Given the description of an element on the screen output the (x, y) to click on. 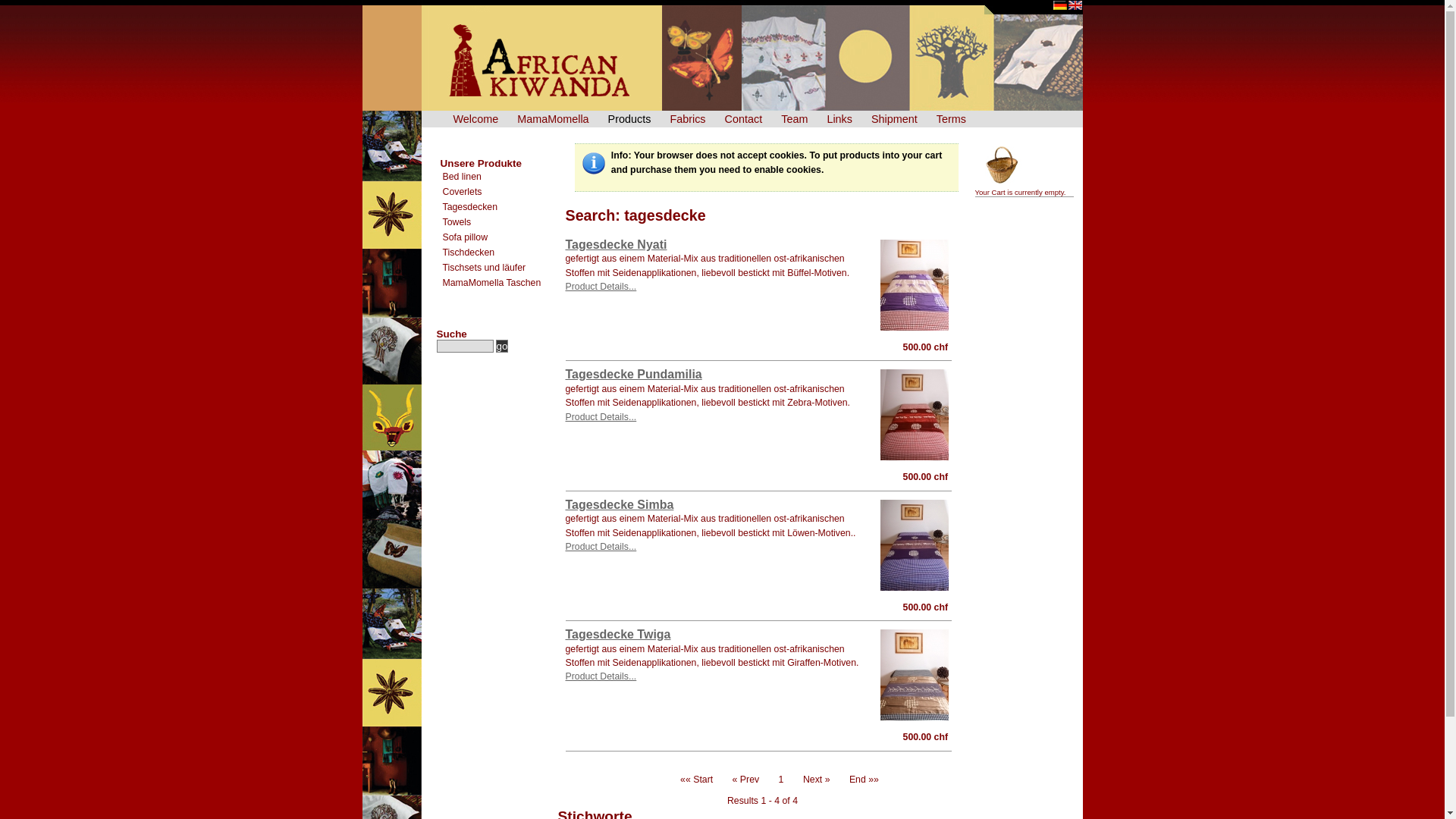
Coverlets Element type: text (498, 191)
Team Element type: text (792, 118)
Products Element type: text (627, 118)
Tischdecken Element type: text (498, 252)
Product Details... Element type: text (709, 423)
Towels Element type: text (498, 221)
Shipment Element type: text (892, 118)
Terms Element type: text (949, 118)
Tagesdecke Nyati Element type: text (616, 244)
Sofa pillow Element type: text (498, 236)
Tagesdecke Simba Element type: text (619, 504)
Tagesdecke Nyati Element type: hover (914, 284)
Contact Element type: text (741, 118)
Search Element type: hover (464, 345)
Product Details... Element type: text (713, 683)
Tagesdecken Element type: text (498, 206)
Tagesdecke Pundamilia Element type: text (633, 373)
Tagesdecke Twiga Element type: hover (914, 674)
Tagesdecke Twiga Element type: text (618, 633)
MamaMomella Element type: text (550, 118)
Tagesdecke Simba Element type: hover (914, 544)
Tagesdecke Pundamilia Element type: hover (914, 414)
Links Element type: text (837, 118)
English Element type: hover (1074, 5)
Product Details... Element type: text (708, 293)
MamaMomella Taschen Element type: text (498, 282)
Welcome Element type: text (473, 118)
Bed linen Element type: text (498, 176)
go Element type: text (501, 345)
Product Details... Element type: text (711, 553)
Deutsch Element type: hover (1059, 5)
Fabrics Element type: text (685, 118)
